Given the description of an element on the screen output the (x, y) to click on. 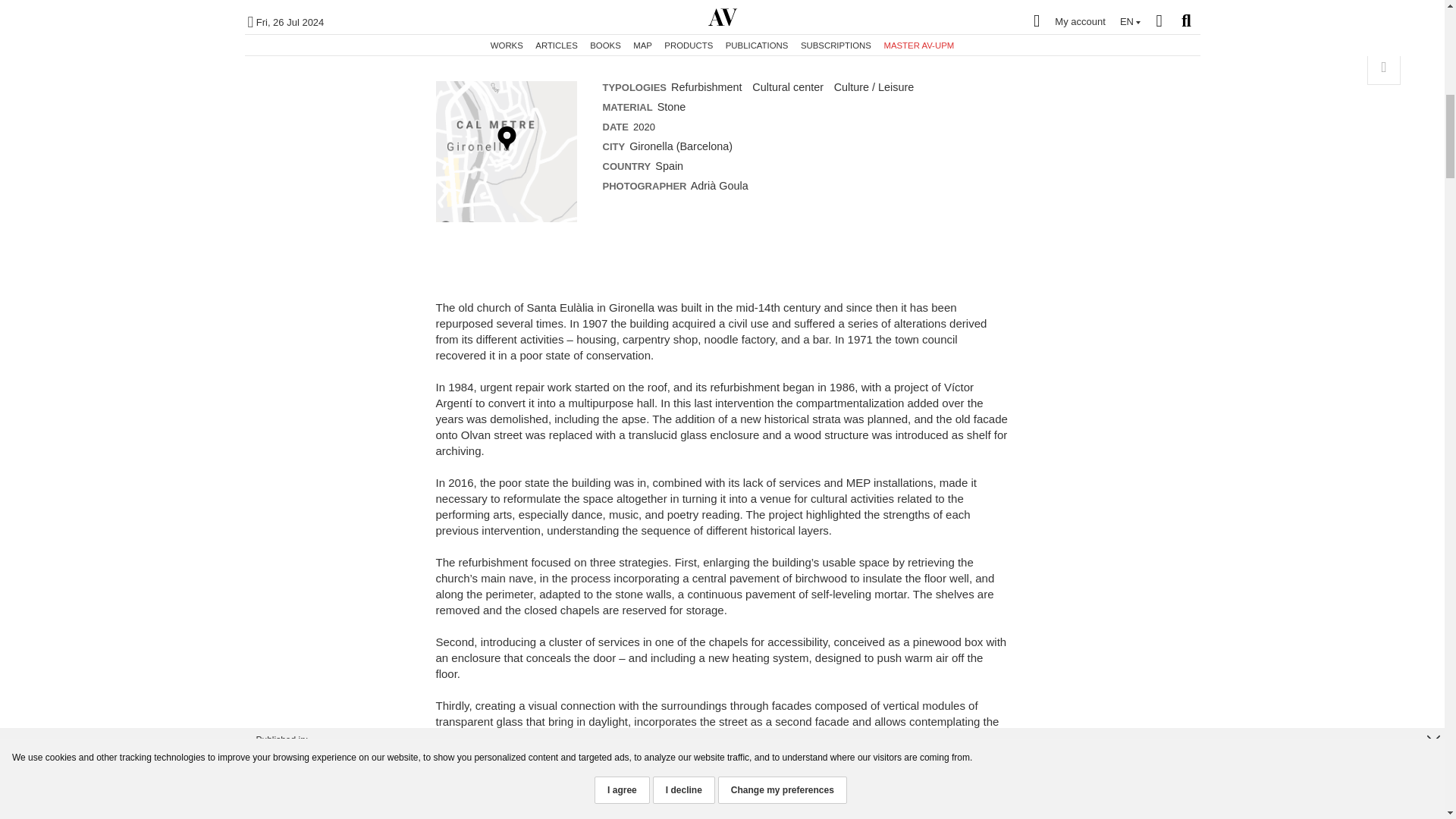
Share this content (1383, 68)
Add to favoites (1383, 34)
